Given the description of an element on the screen output the (x, y) to click on. 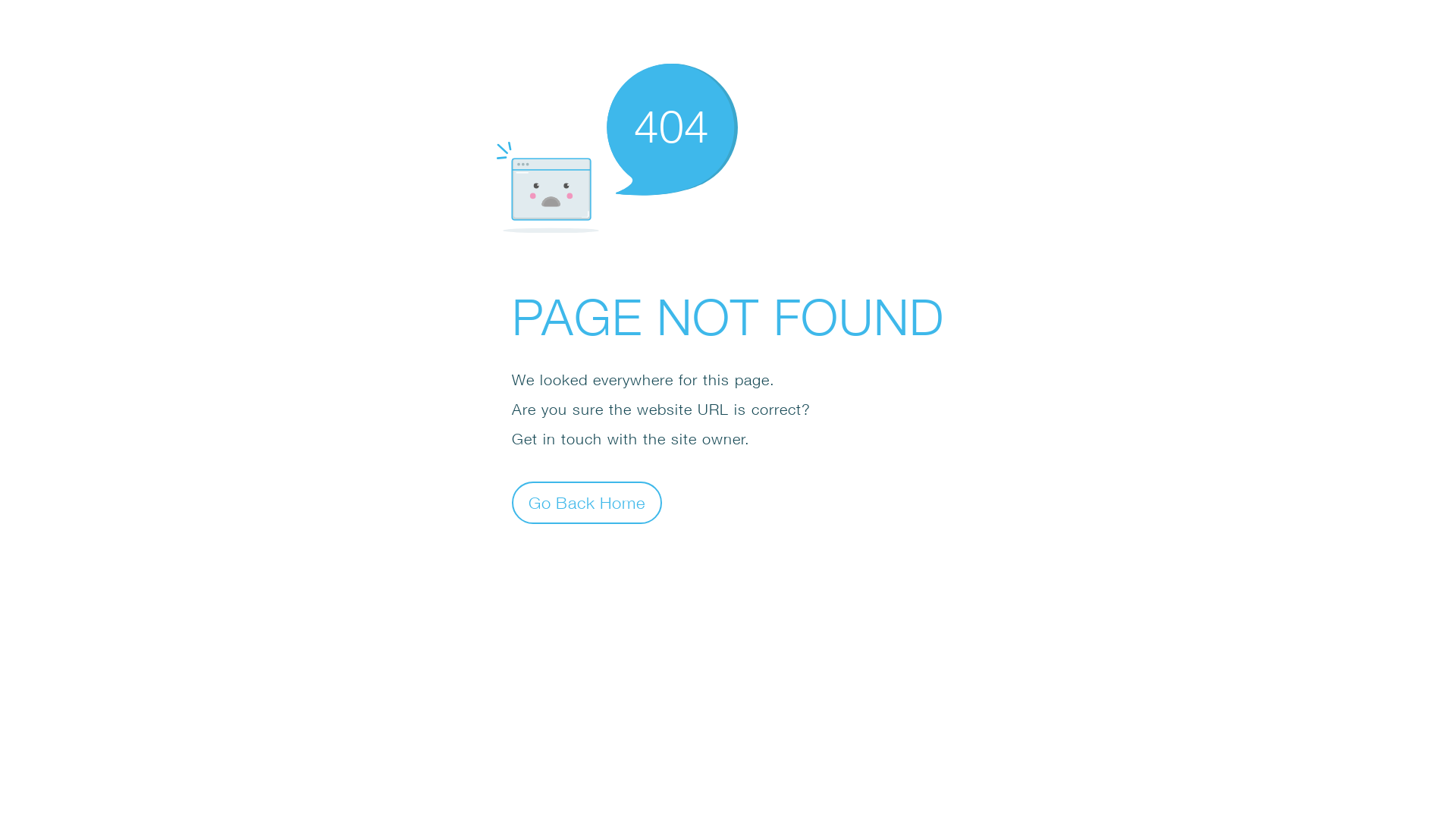
Go Back Home Element type: text (586, 502)
